Given the description of an element on the screen output the (x, y) to click on. 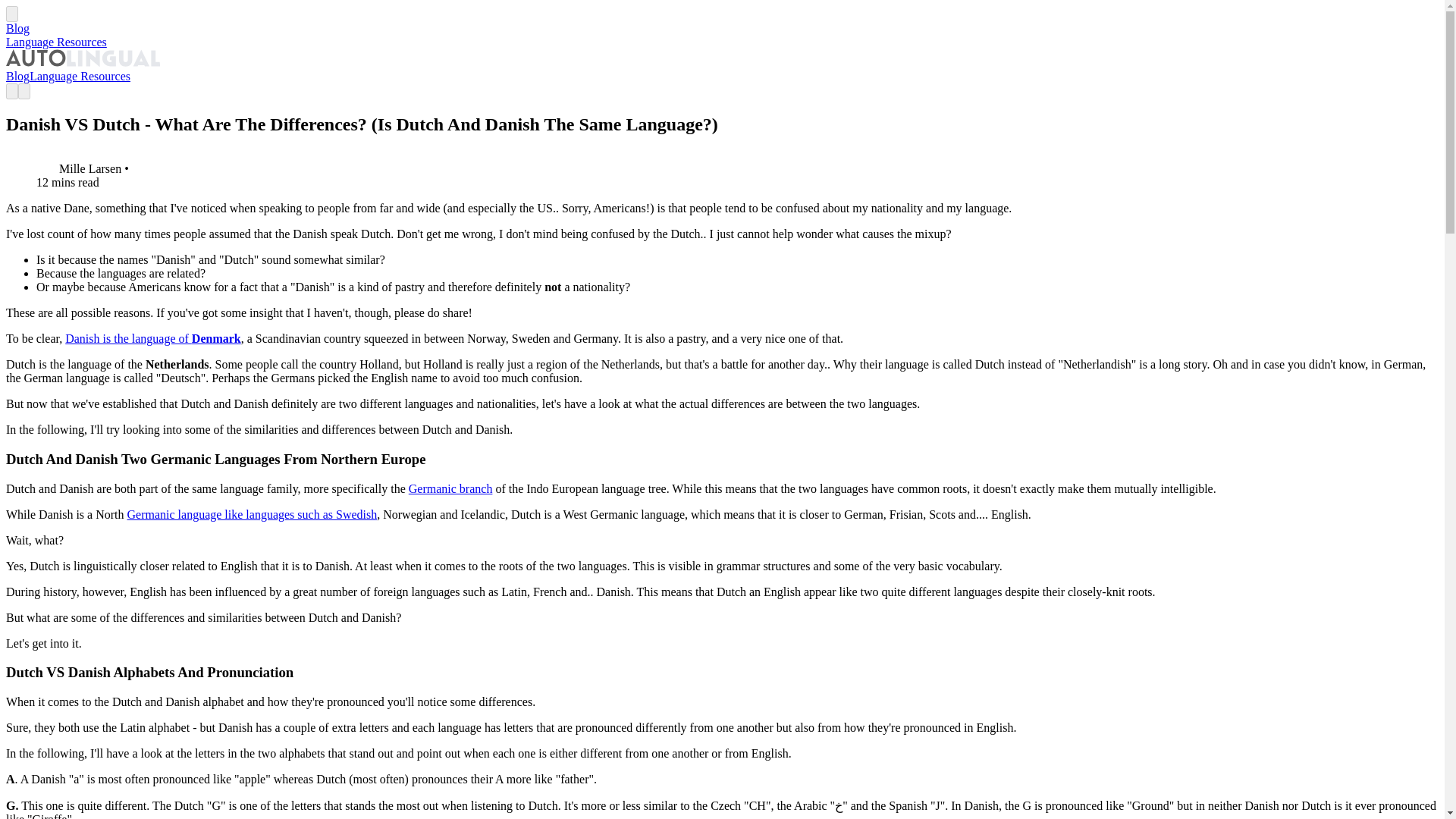
Danish is the language of Denmark (153, 338)
Germanic language like languages such as Swedish (252, 513)
Blog (17, 75)
Germanic branch (451, 488)
Language Resources (55, 42)
Blog (17, 28)
Language Resources (80, 75)
